Given the description of an element on the screen output the (x, y) to click on. 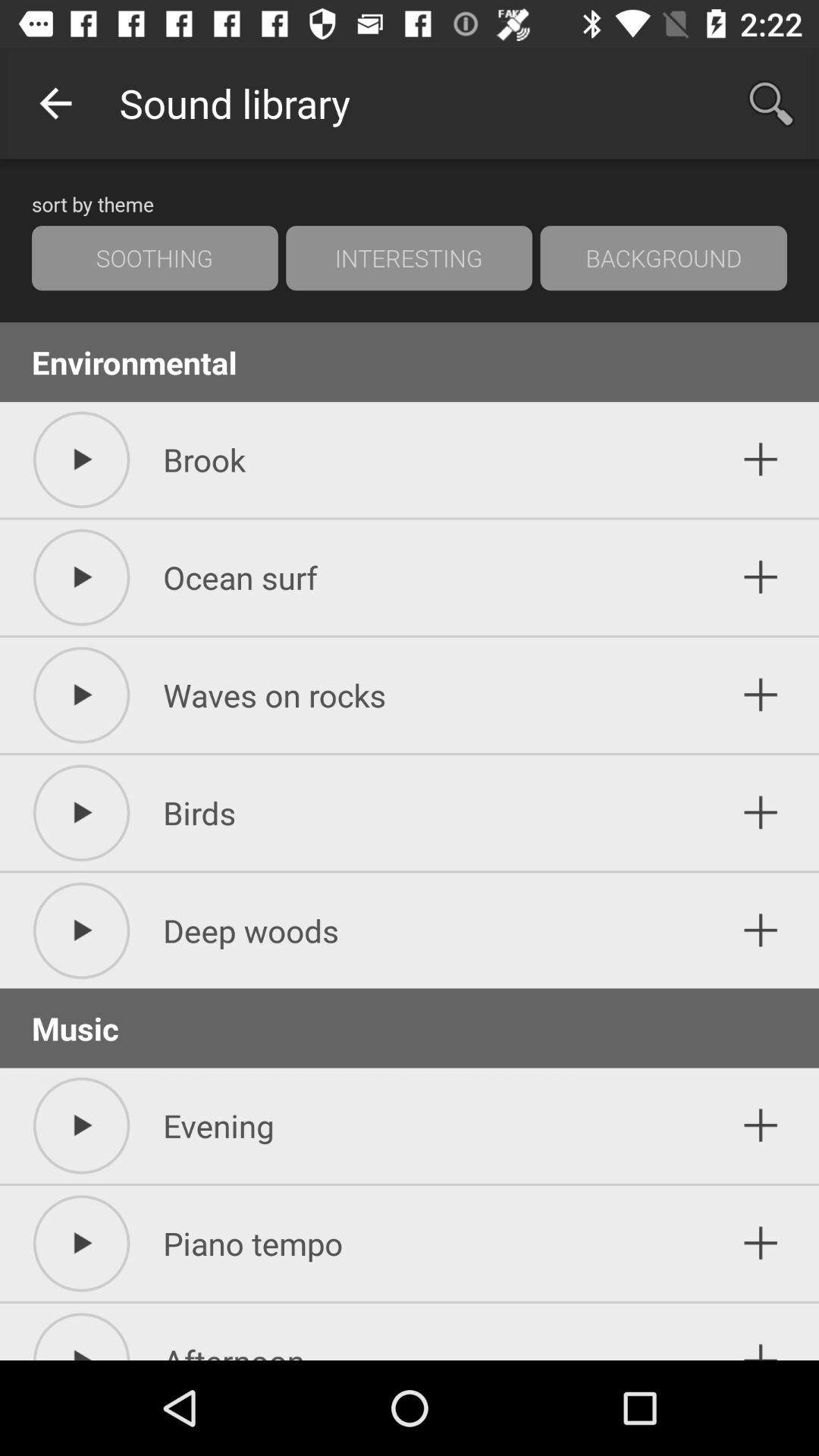
show more (761, 459)
